Given the description of an element on the screen output the (x, y) to click on. 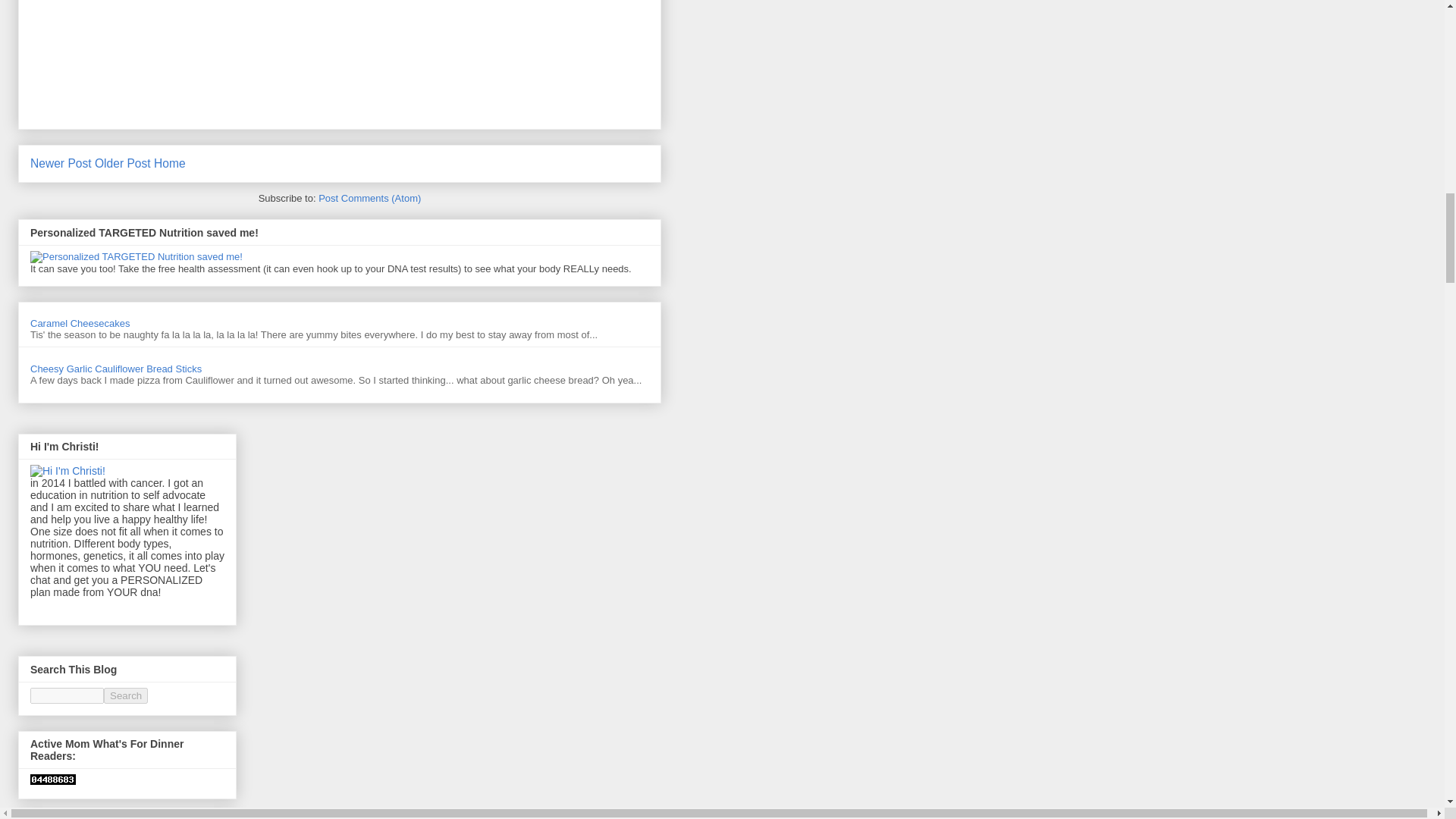
Newer Post (60, 163)
Caramel Cheesecakes (80, 323)
Older Post (122, 163)
Search (125, 695)
Search (125, 695)
Older Post (122, 163)
Cheesy Garlic Cauliflower Bread Sticks (116, 368)
Home (170, 163)
search (66, 695)
Newer Post (60, 163)
Search (125, 695)
